Given the description of an element on the screen output the (x, y) to click on. 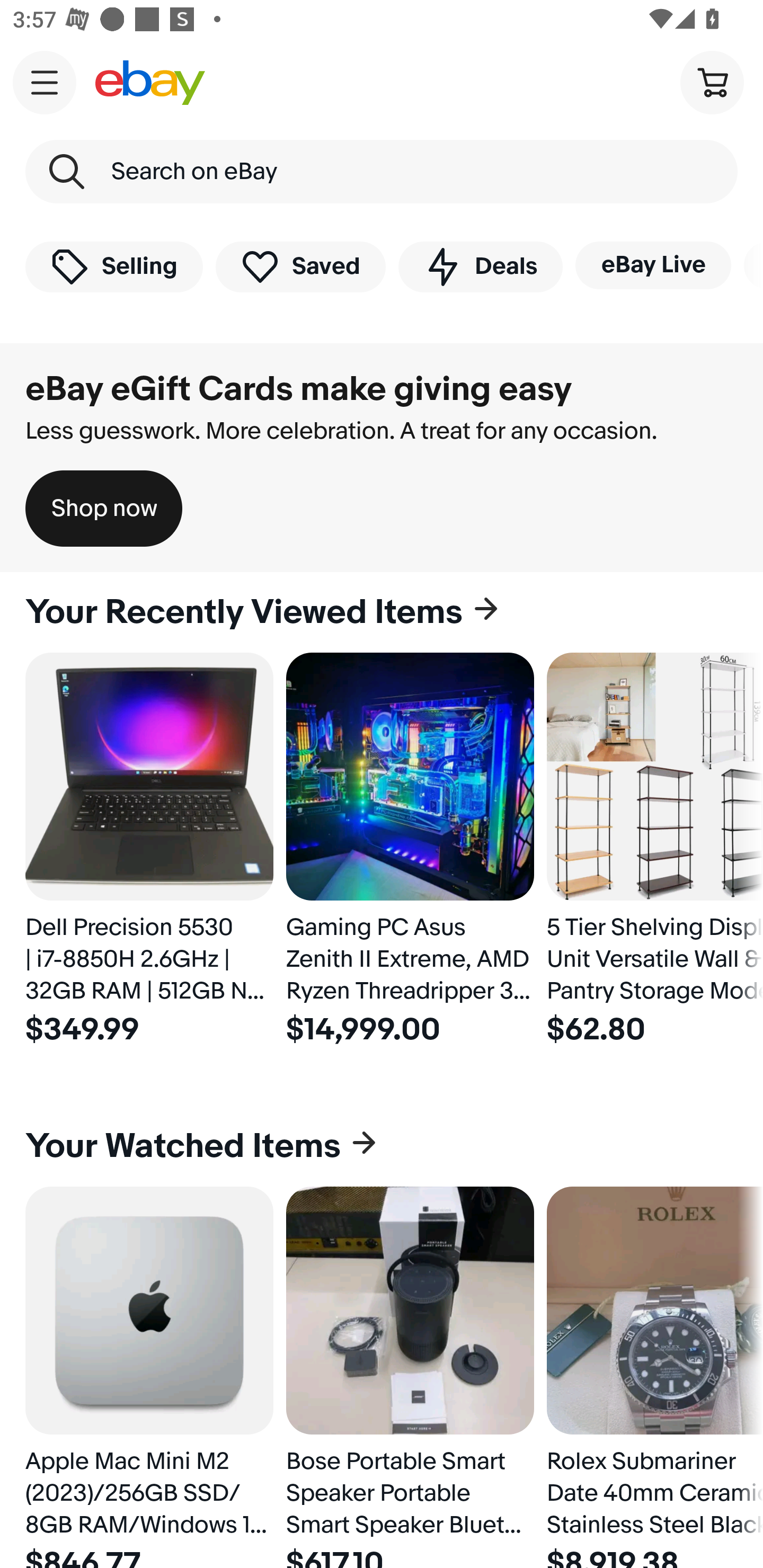
Main navigation, open (44, 82)
Cart button shopping cart (711, 81)
Search on eBay Search Keyword Search on eBay (381, 171)
Selling (113, 266)
Saved (300, 266)
Deals (480, 266)
eBay Live (652, 264)
eBay eGift Cards make giving easy (298, 389)
Shop now (103, 508)
Your Recently Viewed Items   (381, 612)
Your Watched Items   (381, 1145)
